Given the description of an element on the screen output the (x, y) to click on. 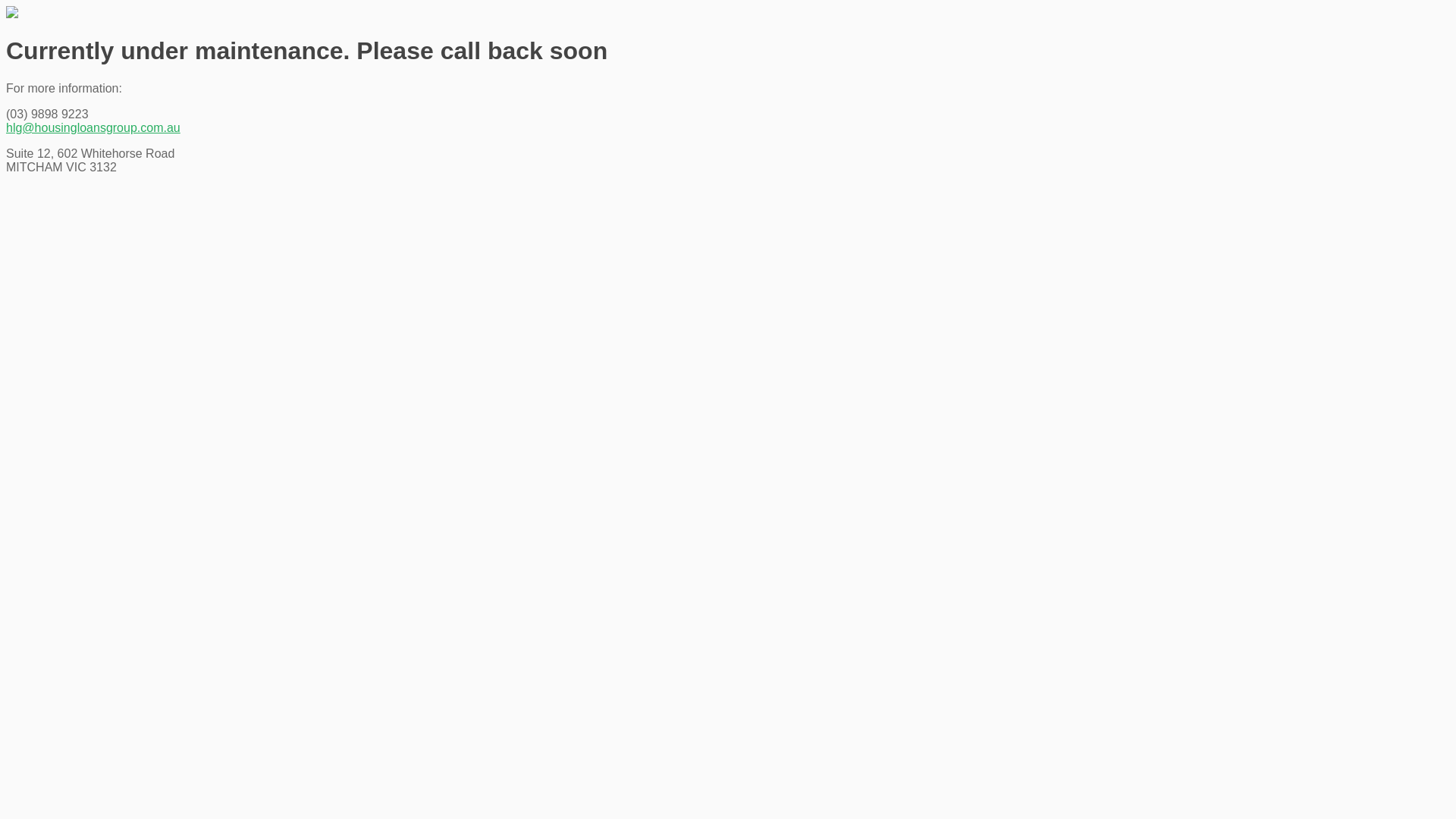
hlg@housingloansgroup.com.au Element type: text (93, 127)
